Given the description of an element on the screen output the (x, y) to click on. 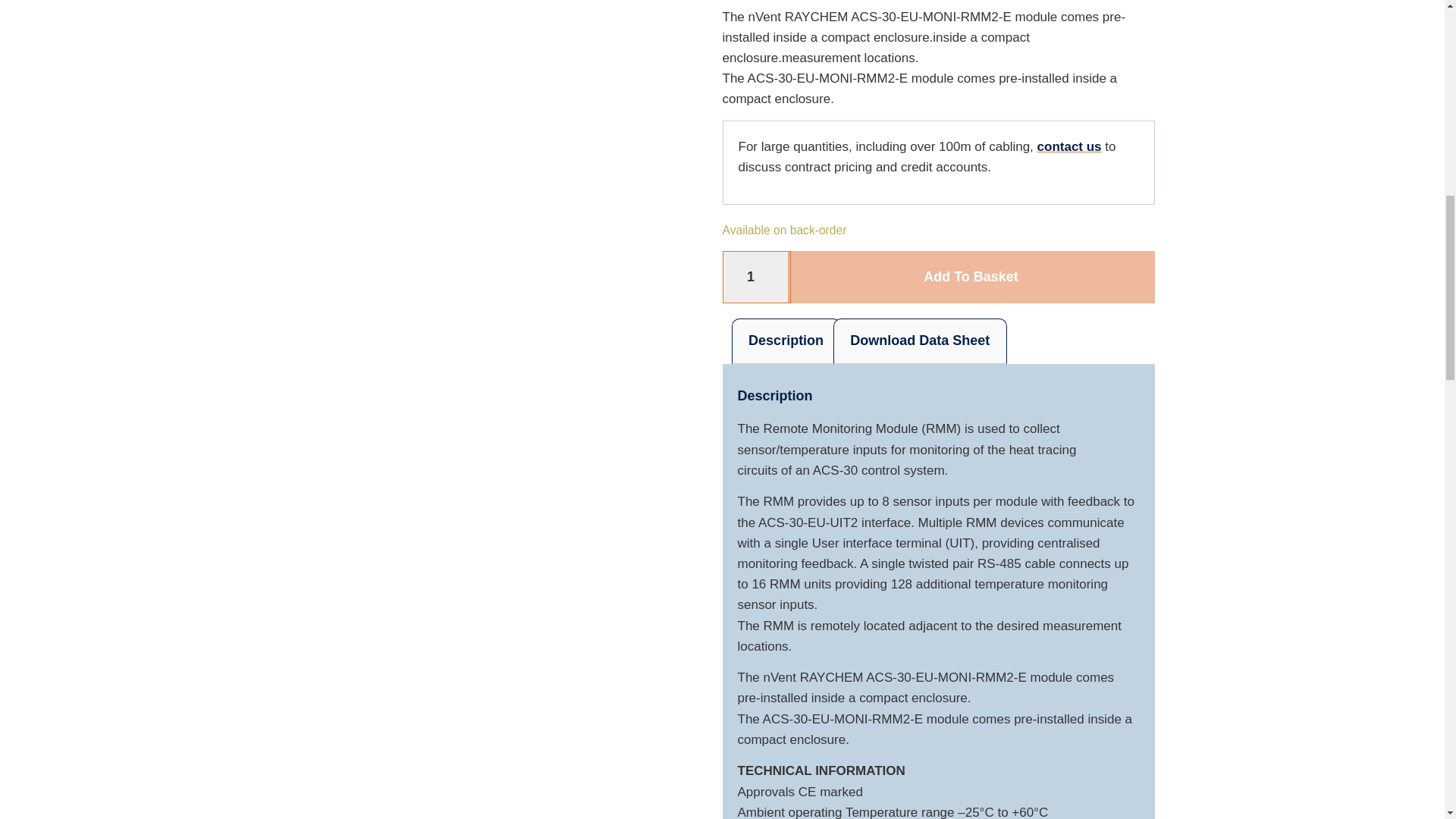
1 (756, 276)
